Given the description of an element on the screen output the (x, y) to click on. 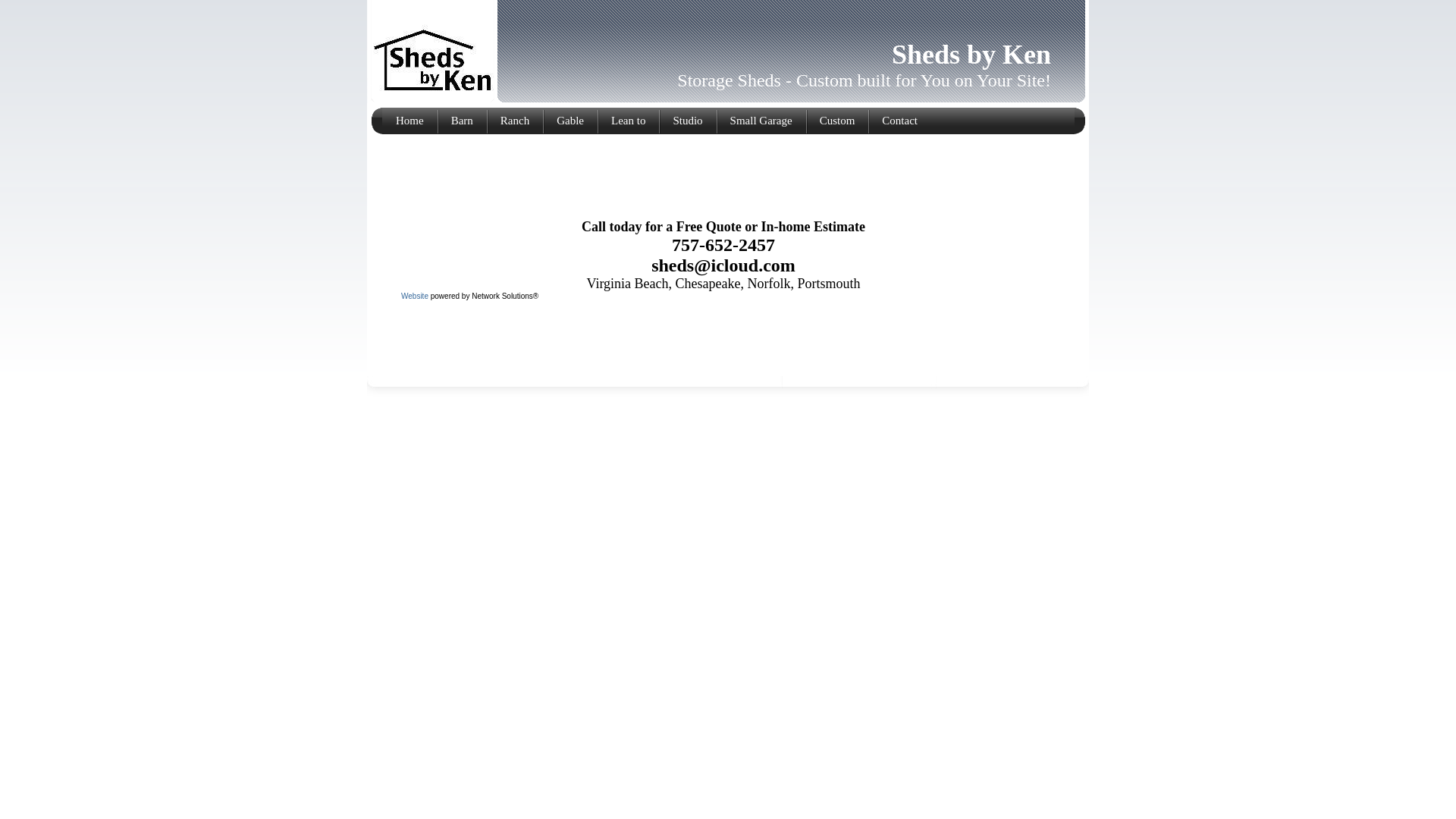
Studio Element type: text (686, 120)
Gable Element type: text (569, 120)
Barn Element type: text (461, 120)
Lean to Element type: text (627, 120)
Ranch Element type: text (514, 120)
Website Element type: text (414, 295)
Small Garage Element type: text (761, 120)
Custom Element type: text (837, 120)
Home Element type: text (409, 120)
Contact Element type: text (899, 120)
